Given the description of an element on the screen output the (x, y) to click on. 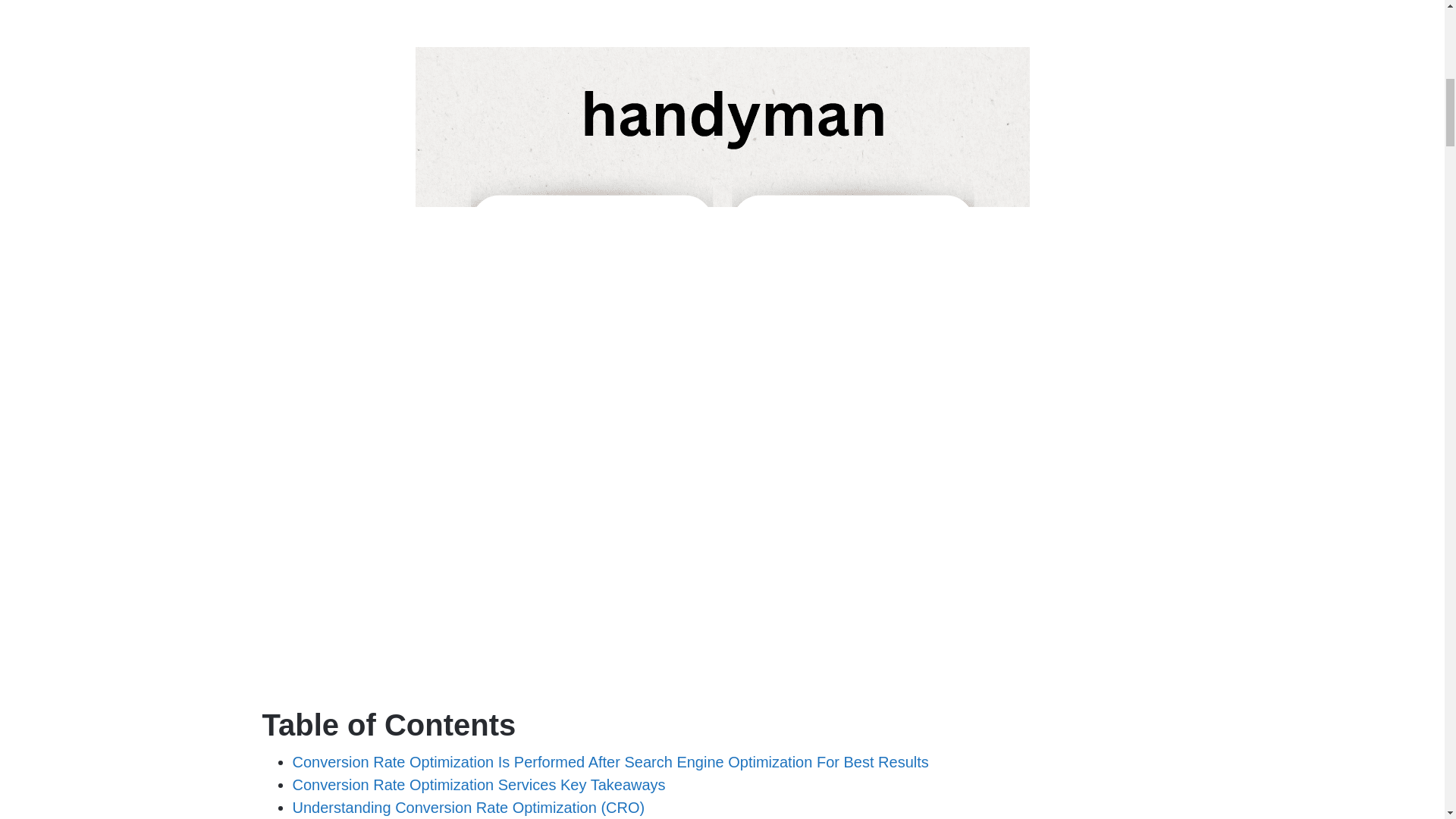
Conversion Rate Optimization Services Key Takeaways (478, 784)
